Given the description of an element on the screen output the (x, y) to click on. 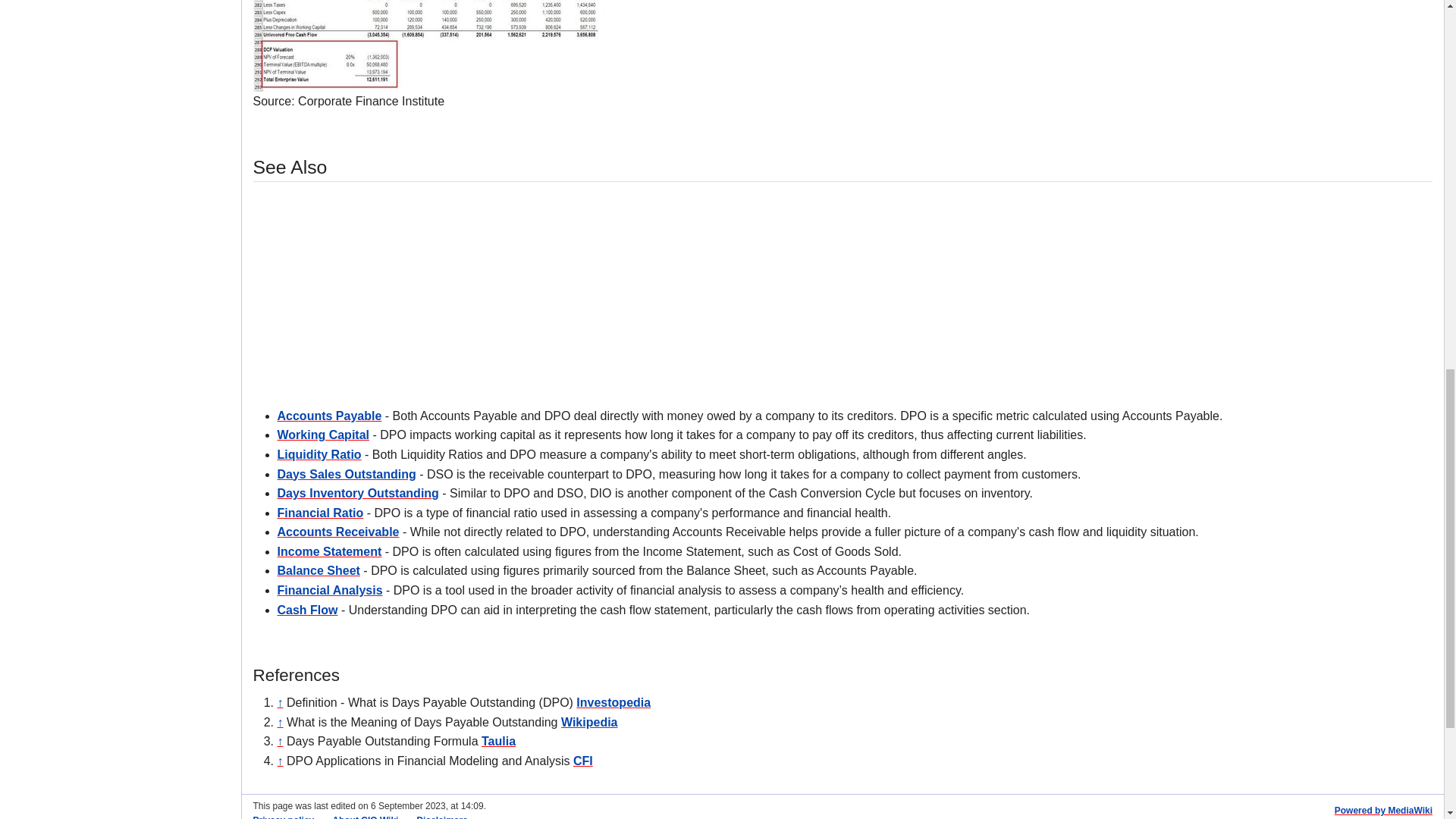
Days Inventory Outstanding (358, 492)
Days Sales Outstanding (347, 472)
Working Capital (323, 434)
Liquidity Ratio (319, 454)
Accounts Payable (329, 415)
